Given the description of an element on the screen output the (x, y) to click on. 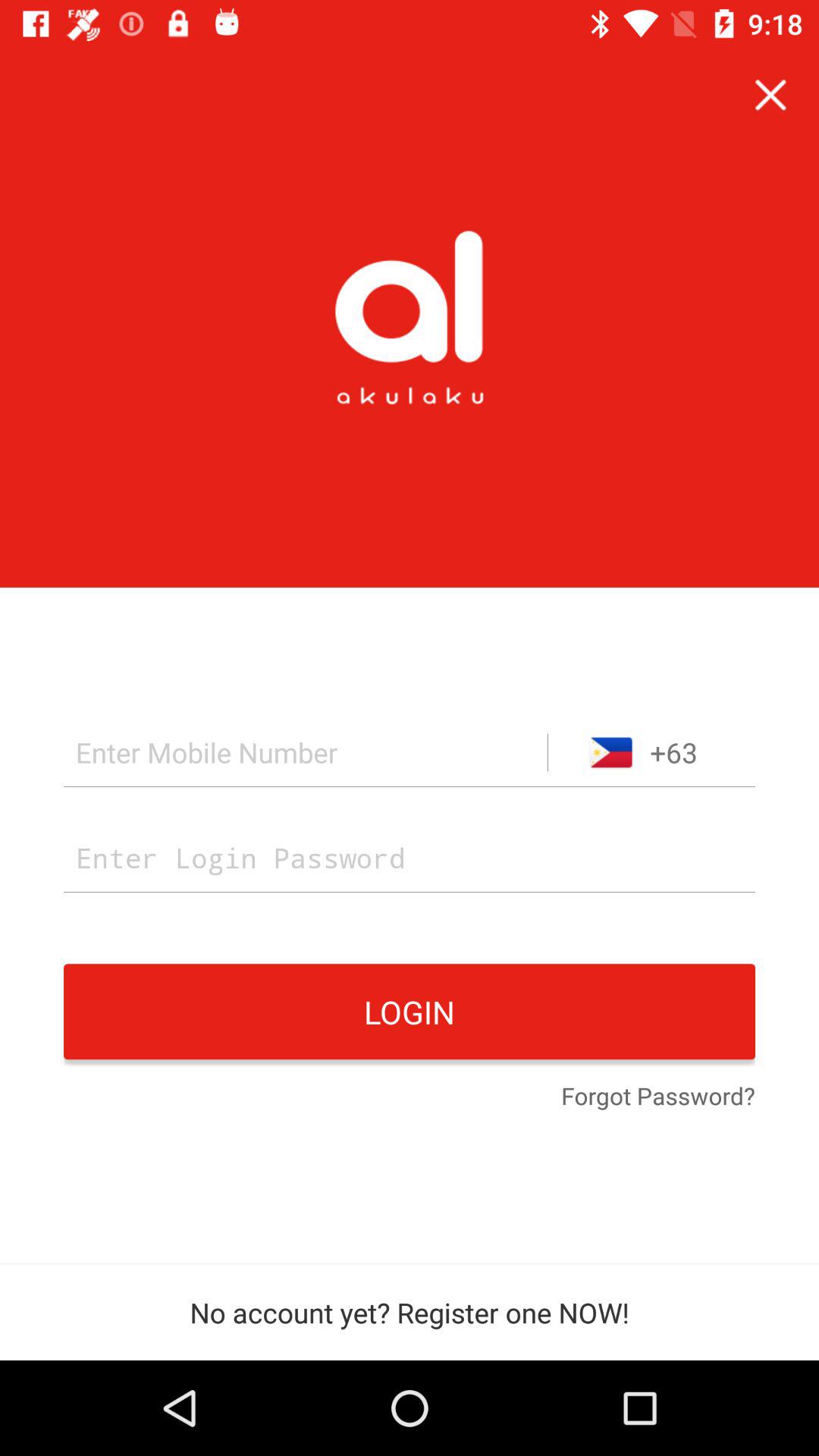
turn off item above the forgot password? item (409, 1011)
